Given the description of an element on the screen output the (x, y) to click on. 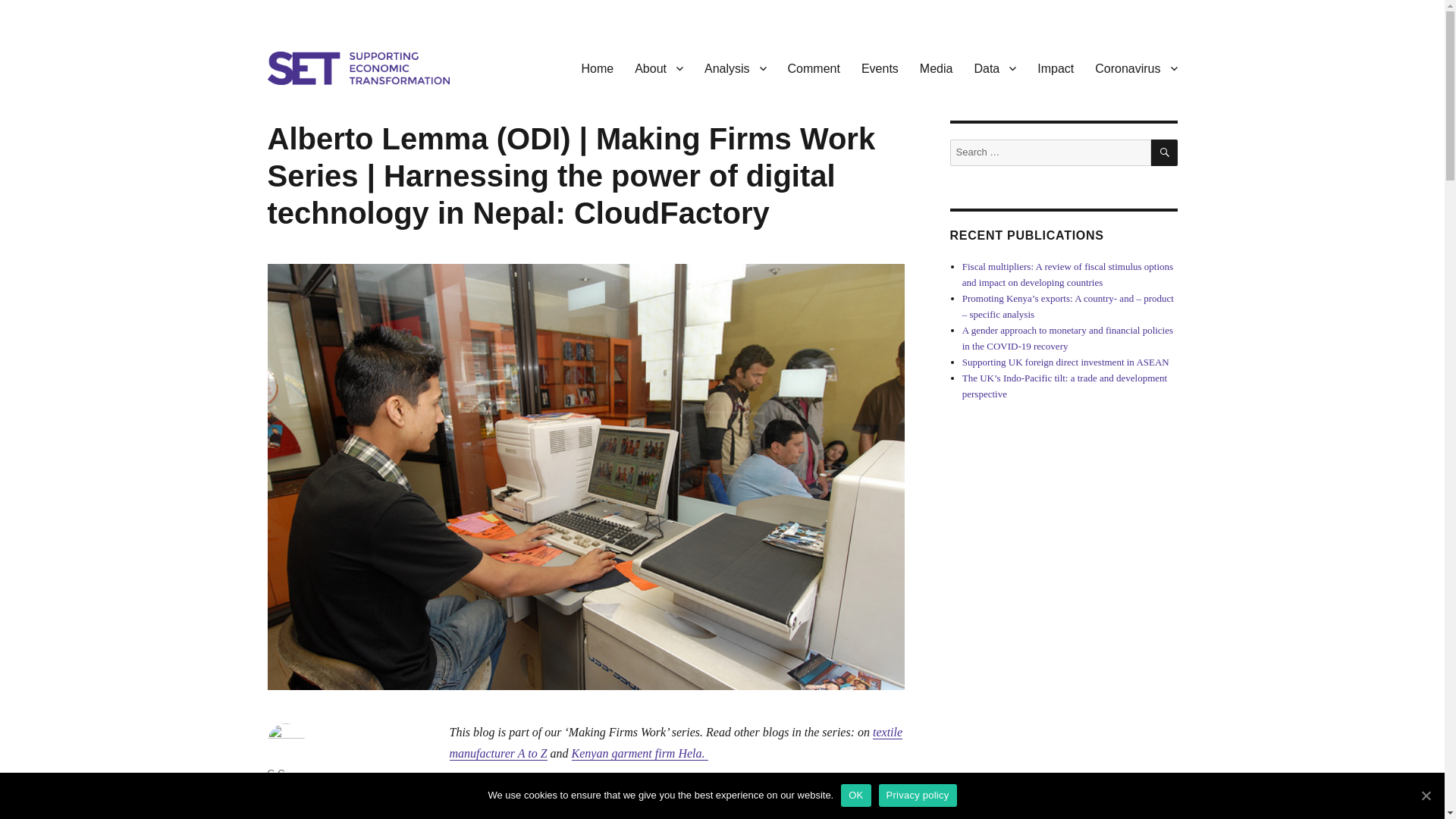
Data (994, 68)
Home (597, 68)
Kenyan garment firm Hela.  (639, 753)
Media (935, 68)
textile manufacturer A to Z (675, 742)
Analysis (735, 68)
SET (286, 108)
About (659, 68)
Coronavirus (1136, 68)
Impact (1055, 68)
Comment (813, 68)
Events (879, 68)
